Given the description of an element on the screen output the (x, y) to click on. 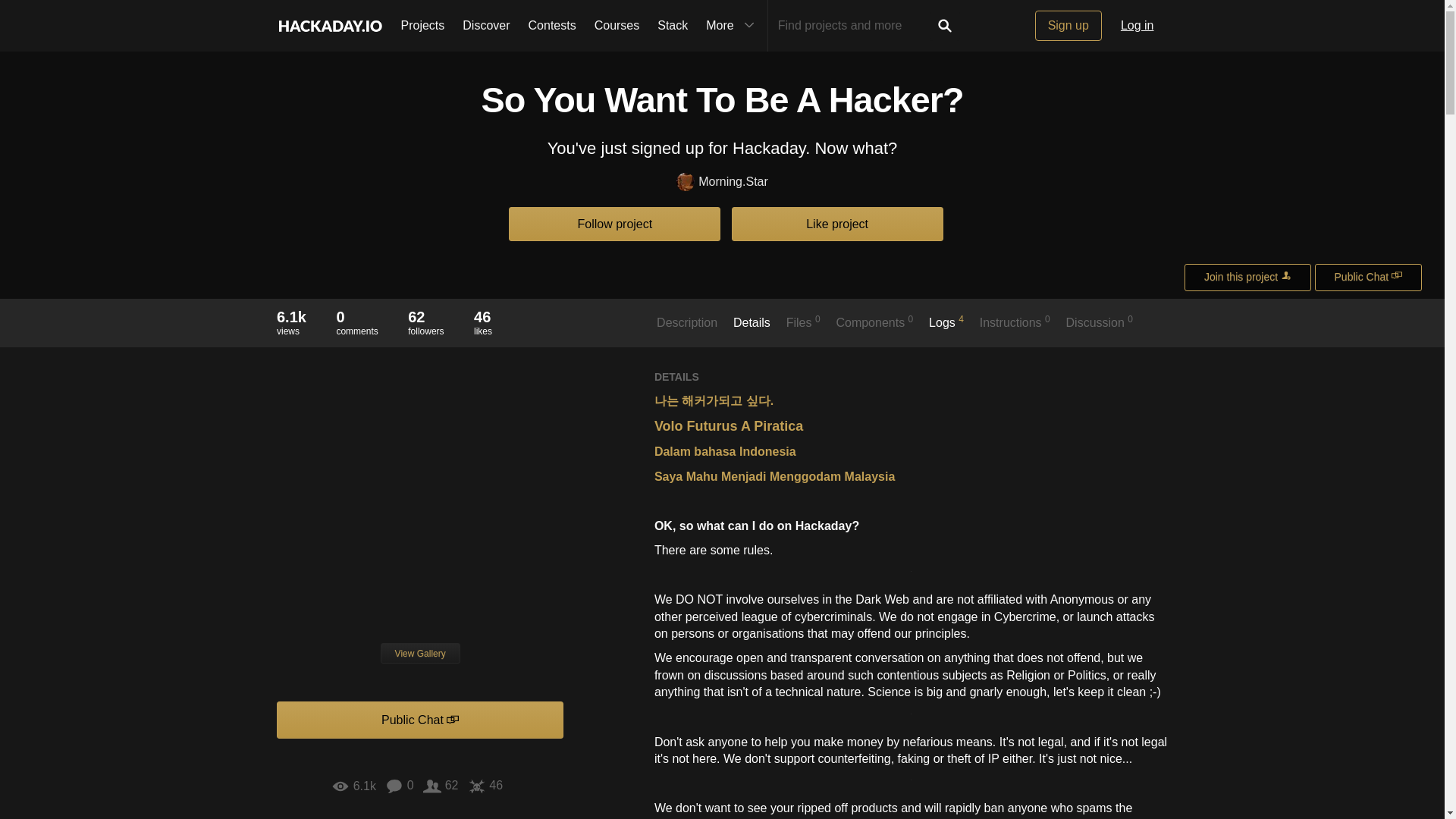
Log in (1137, 25)
Stack (672, 25)
Courses (617, 25)
Public Chat (1368, 277)
Sign up (1068, 25)
Followers (440, 785)
Likes (484, 785)
Projects (421, 25)
More (732, 25)
Follow project (614, 223)
Discover (485, 25)
Details (751, 330)
Like project (837, 223)
Search (425, 322)
